Given the description of an element on the screen output the (x, y) to click on. 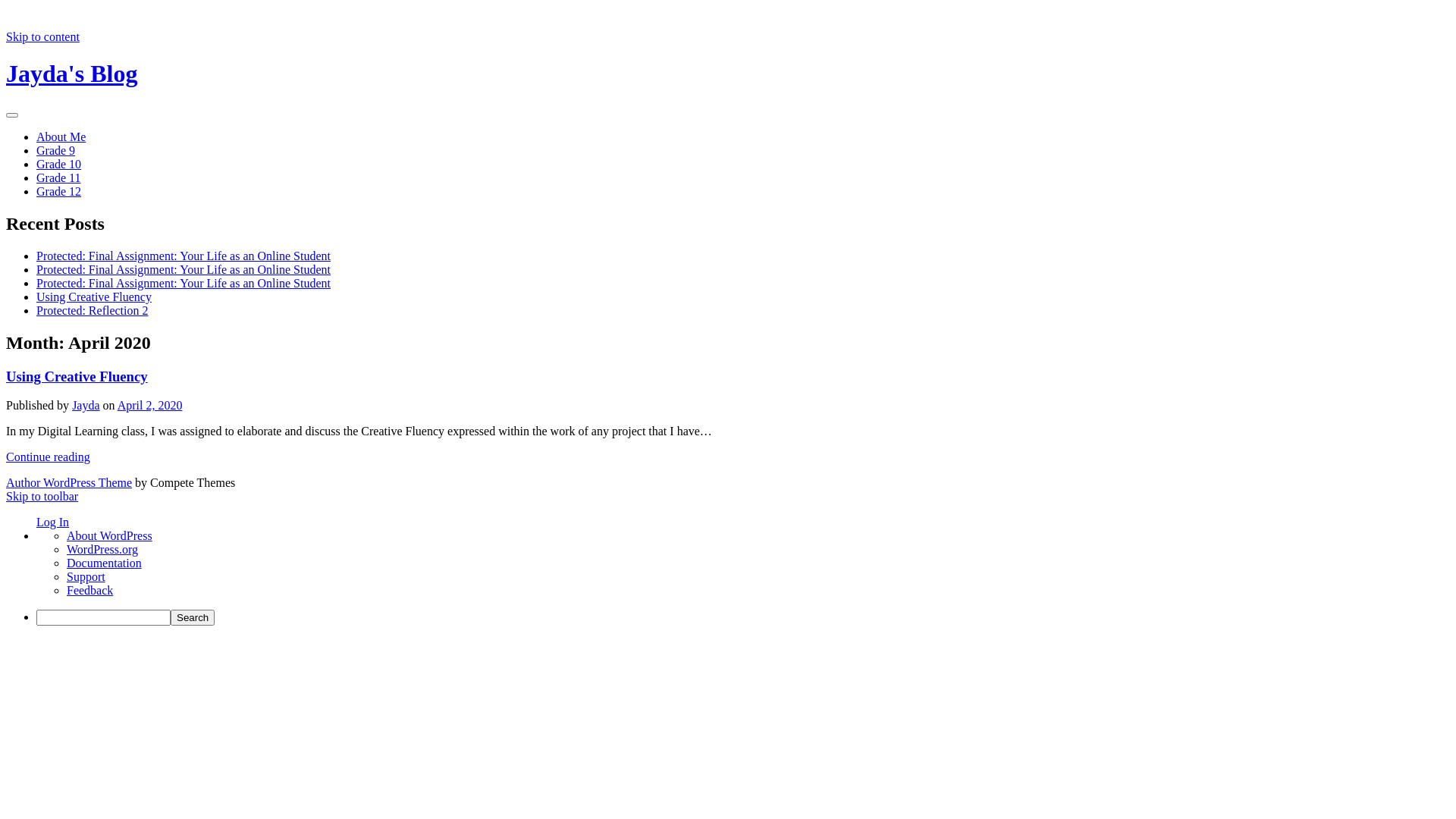
open primary menu Element type: text (12, 114)
Protected: Reflection 2 Element type: text (92, 310)
Protected: Final Assignment: Your Life as an Online Student Element type: text (183, 269)
Feedback Element type: text (89, 589)
Skip to content Element type: text (42, 36)
Documentation Element type: text (103, 562)
April 2, 2020 Element type: text (149, 404)
Grade 10 Element type: text (58, 163)
Search Element type: text (192, 617)
Using Creative Fluency Element type: text (76, 376)
Grade 11 Element type: text (58, 177)
Continue reading
Using Creative Fluency Element type: text (48, 456)
Using Creative Fluency Element type: text (93, 296)
Protected: Final Assignment: Your Life as an Online Student Element type: text (183, 255)
Grade 9 Element type: text (55, 150)
Protected: Final Assignment: Your Life as an Online Student Element type: text (183, 282)
Jayda's Blog Element type: text (71, 73)
Support Element type: text (85, 576)
Jayda Element type: text (85, 404)
Log In Element type: text (52, 521)
WordPress.org Element type: text (102, 548)
Author WordPress Theme Element type: text (68, 482)
About WordPress Element type: text (109, 535)
About Me Element type: text (60, 136)
Skip to toolbar Element type: text (42, 495)
Grade 12 Element type: text (58, 191)
